Given the description of an element on the screen output the (x, y) to click on. 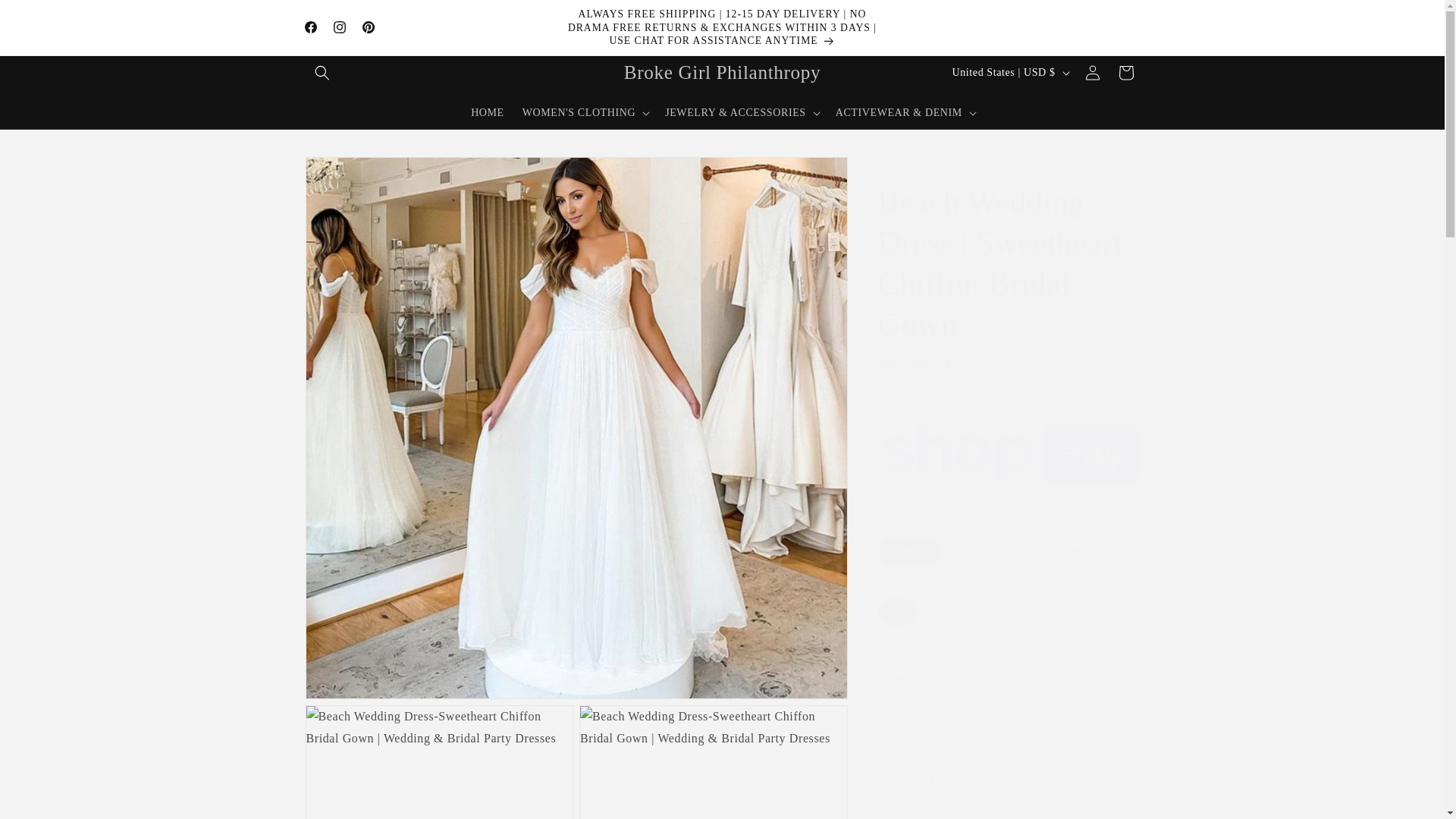
Pinterest (367, 27)
Skip to content (45, 17)
